Given the description of an element on the screen output the (x, y) to click on. 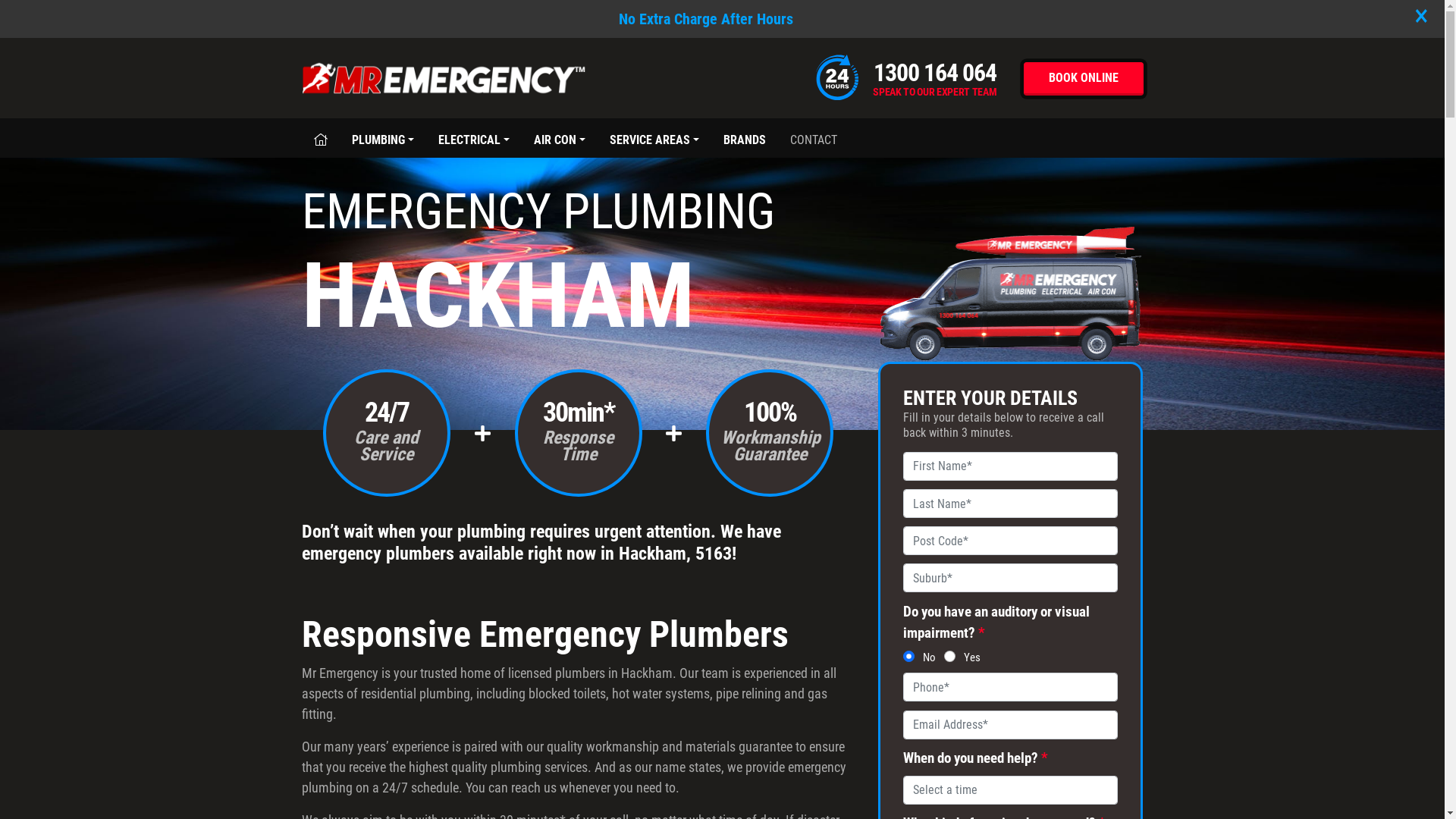
BRANDS Element type: text (744, 138)
PLUMBING Element type: text (382, 138)
AIR CON Element type: text (559, 138)
mr emergency Element type: hover (722, 293)
HOME Element type: hover (320, 138)
ELECTRICAL Element type: text (473, 138)
SERVICE AREAS Element type: text (654, 138)
BOOK ONLINE Element type: text (1083, 78)
CONTACT Element type: text (813, 138)
1300 164 064 Element type: text (934, 72)
No Extra Charge After Hours Element type: text (705, 18)
